Given the description of an element on the screen output the (x, y) to click on. 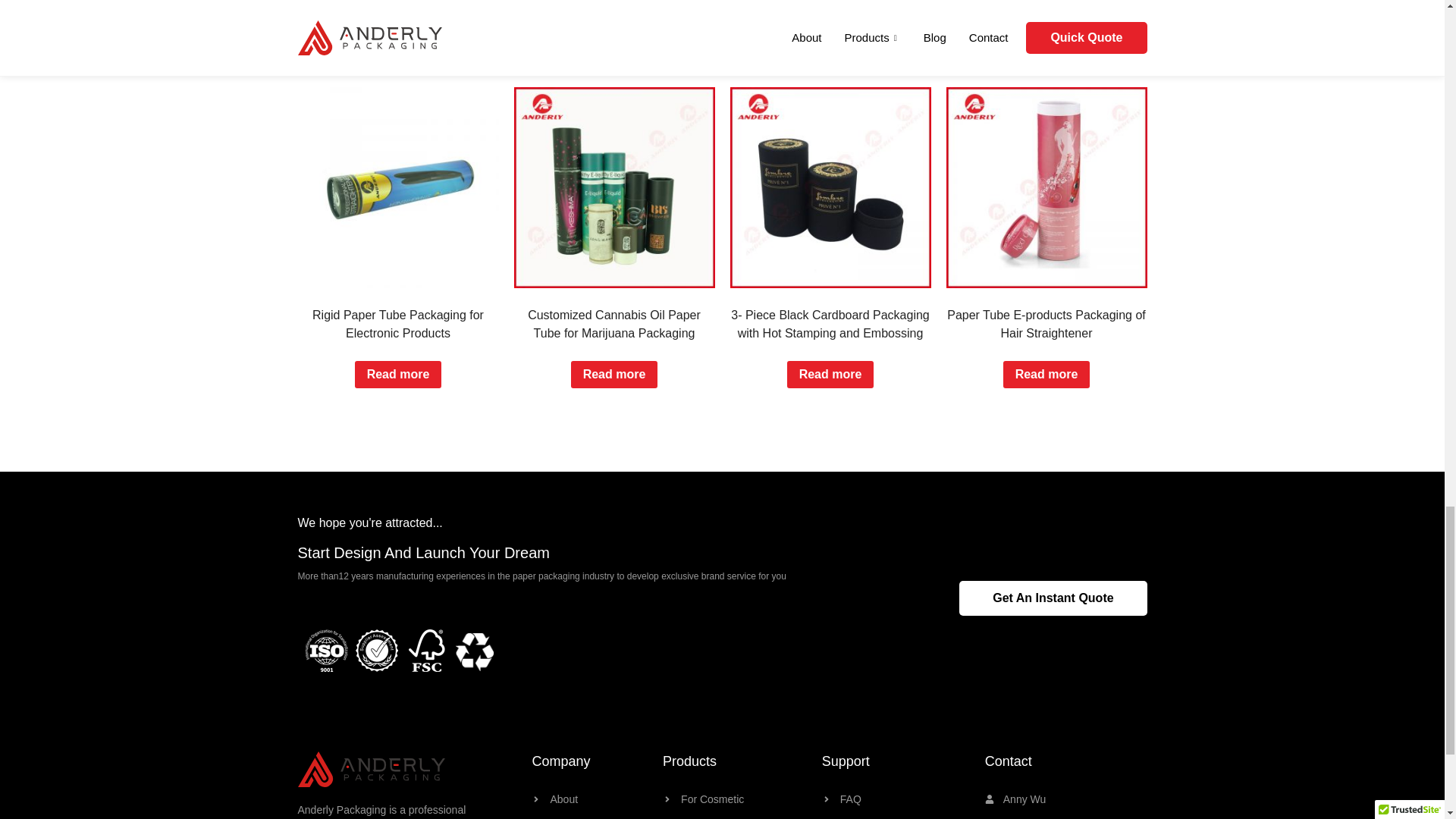
1 (473, 651)
